Given the description of an element on the screen output the (x, y) to click on. 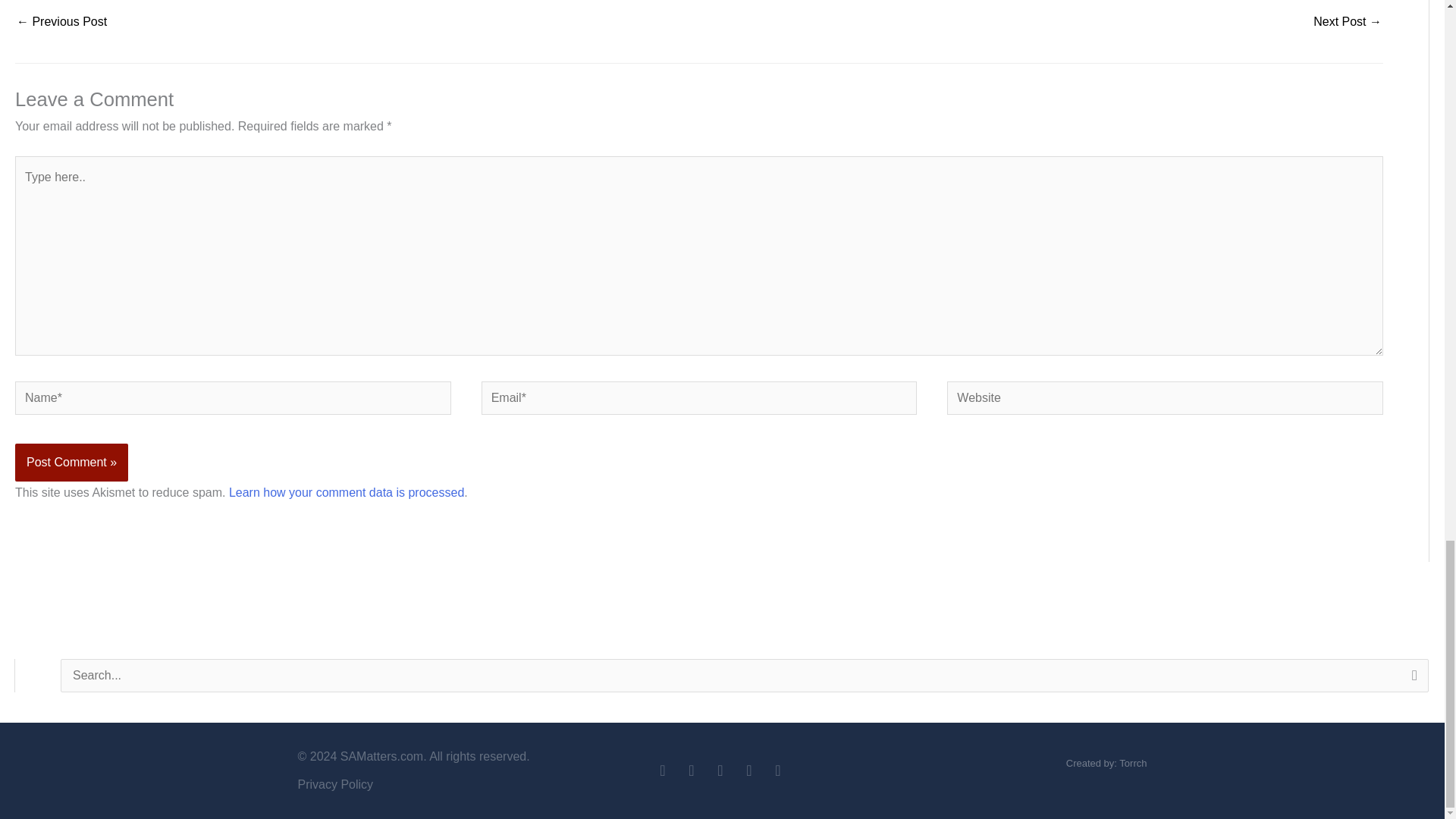
Privacy Policy (433, 784)
Created by: Torrch (1106, 763)
Learn how your comment data is processed (346, 492)
